Given the description of an element on the screen output the (x, y) to click on. 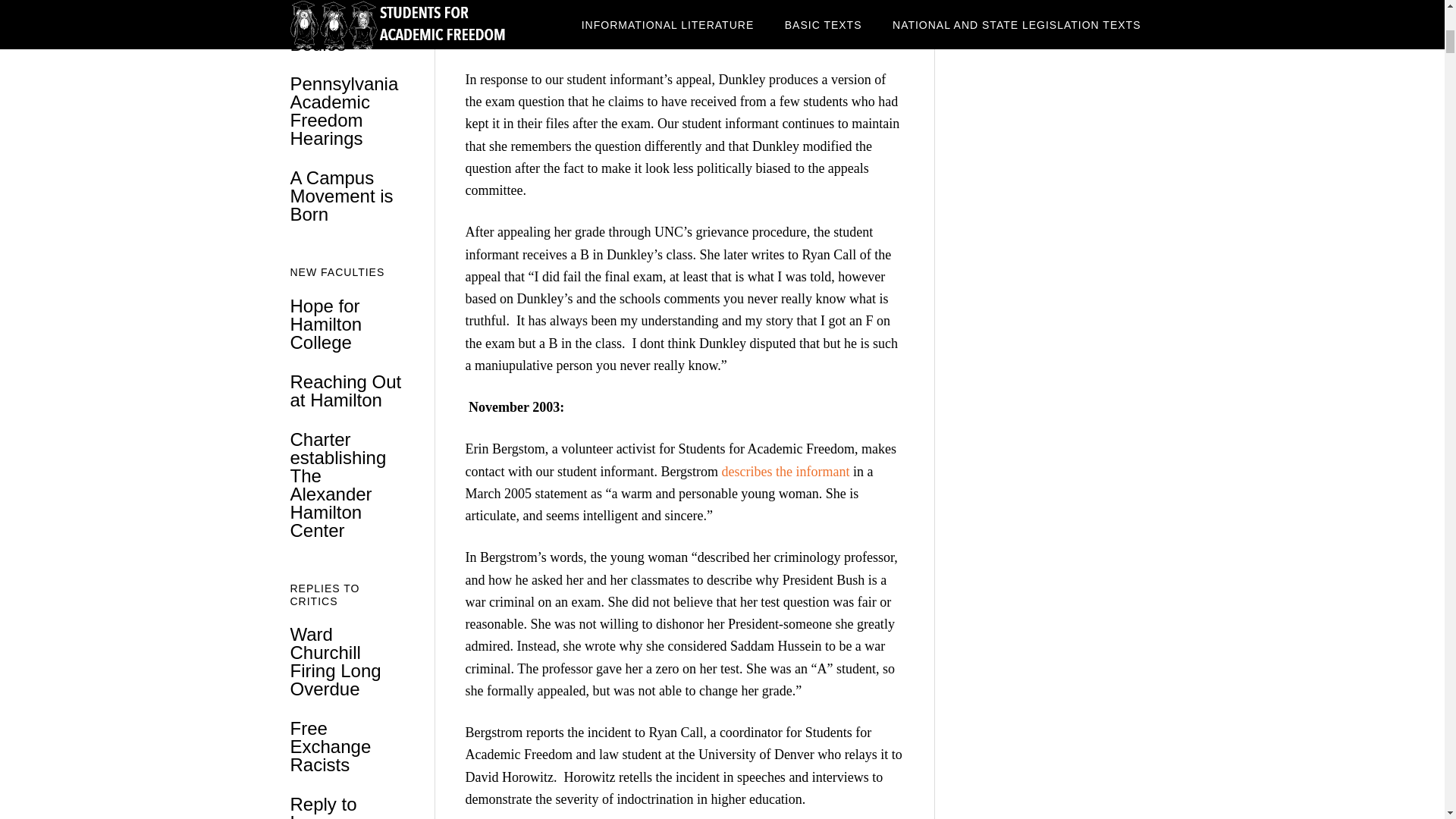
describes the informant (786, 471)
